Given the description of an element on the screen output the (x, y) to click on. 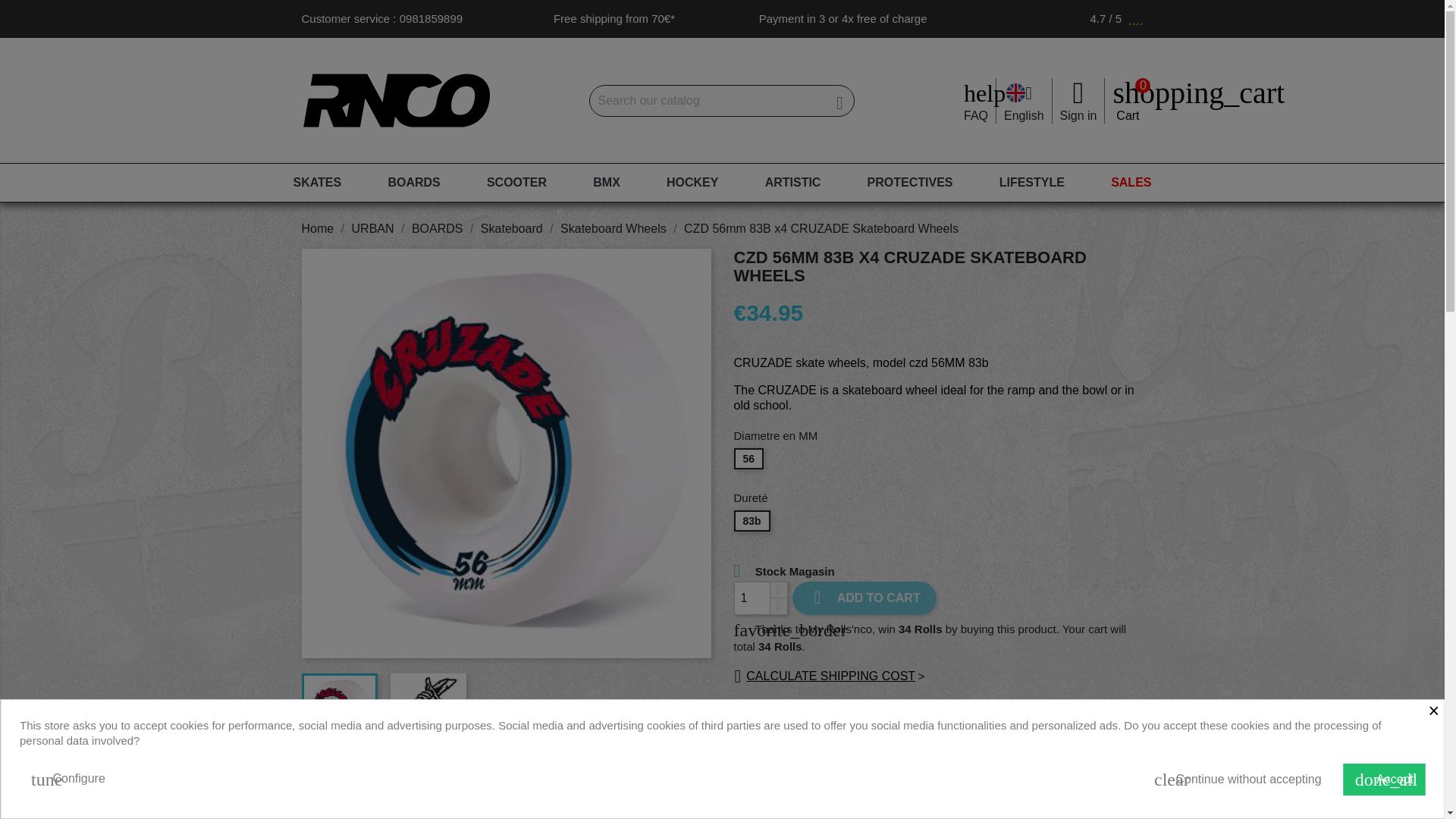
CZD 56mm 83B x4 CRUZADE Skateboard Wheels (339, 711)
FAQ (975, 114)
SKATES (316, 182)
1 (751, 598)
CZD 56mm 83B x4 CRUZADE Skateboard Wheels (427, 711)
100 days returns (742, 746)
 At home, in relay point or in store (742, 726)
Roller'n Co (396, 100)
